Given the description of an element on the screen output the (x, y) to click on. 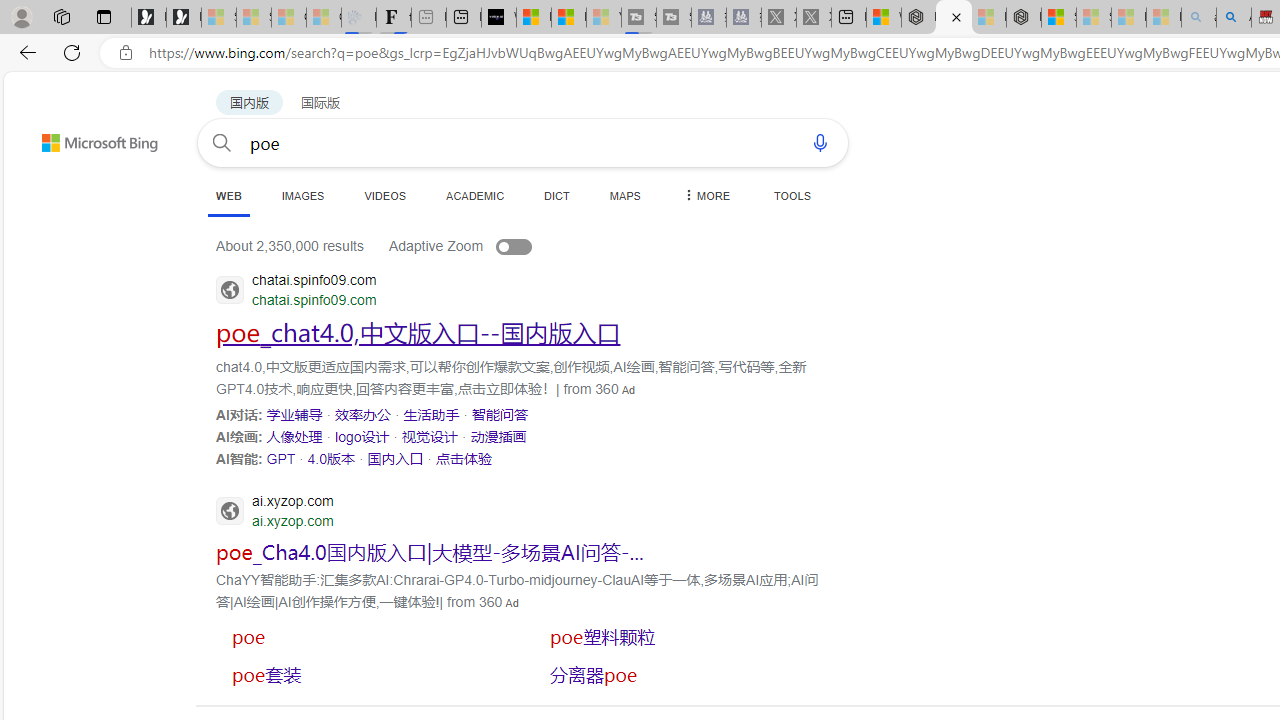
SERP,5567 (362, 436)
Microsoft Start Sports (534, 17)
Wildlife - MSN (883, 17)
SERP,5570 (280, 458)
SERP,5584 (683, 674)
Back to Bing search (87, 138)
DICT (557, 195)
SERP,5573 (463, 458)
MAPS (624, 195)
Workspaces (61, 16)
